Given the description of an element on the screen output the (x, y) to click on. 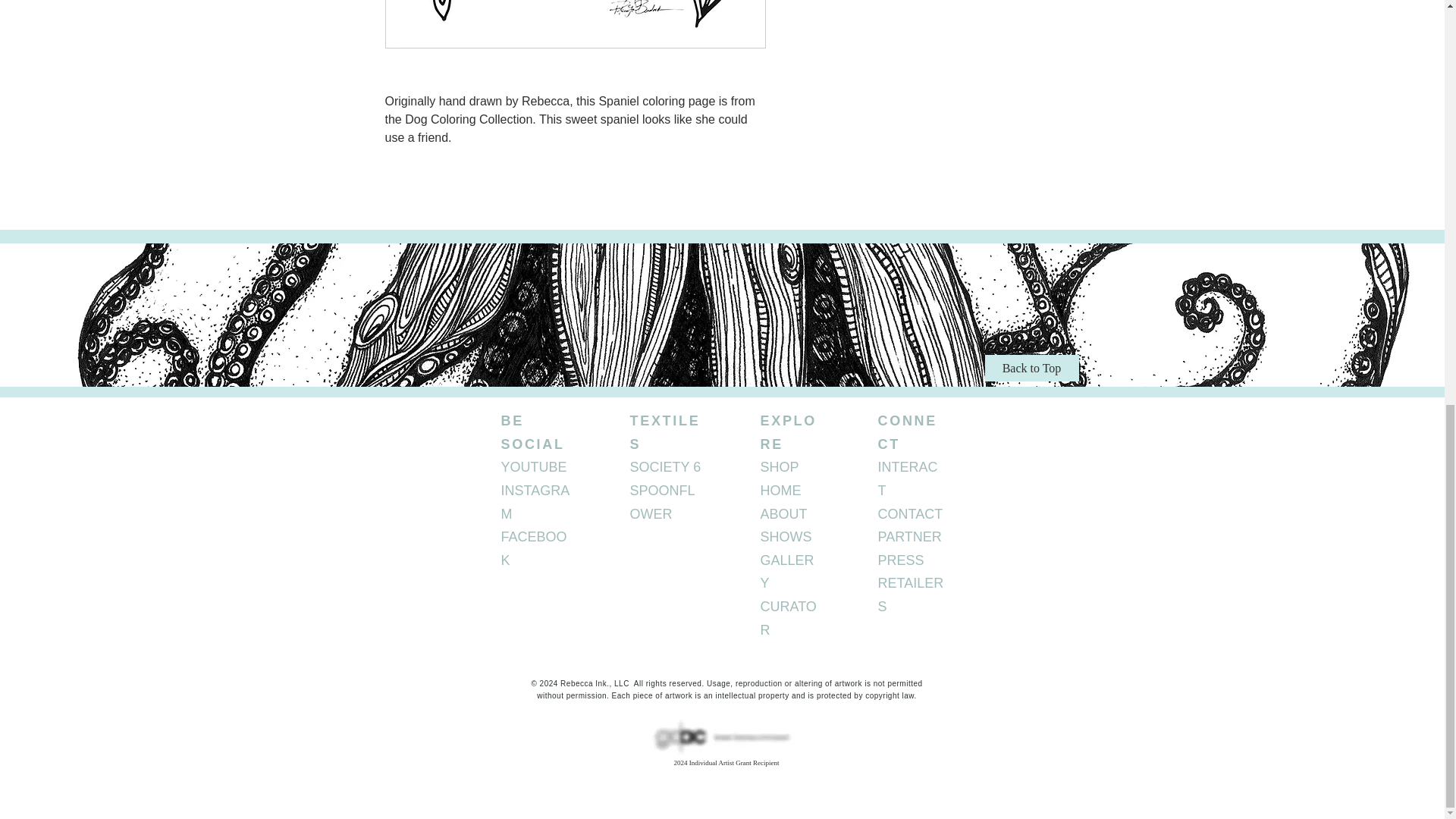
FACEBOOK (533, 548)
YOUTUBE (533, 467)
INTERACT (907, 478)
HOME (780, 490)
SHOP (778, 467)
ABOUT (783, 513)
SOCIETY 6 (664, 467)
SPOONFLOWER (661, 502)
INSTAGRAM (534, 502)
CURATOR (787, 618)
SHOWS (785, 536)
Back to Top (1031, 367)
GALLERY (786, 571)
